Given the description of an element on the screen output the (x, y) to click on. 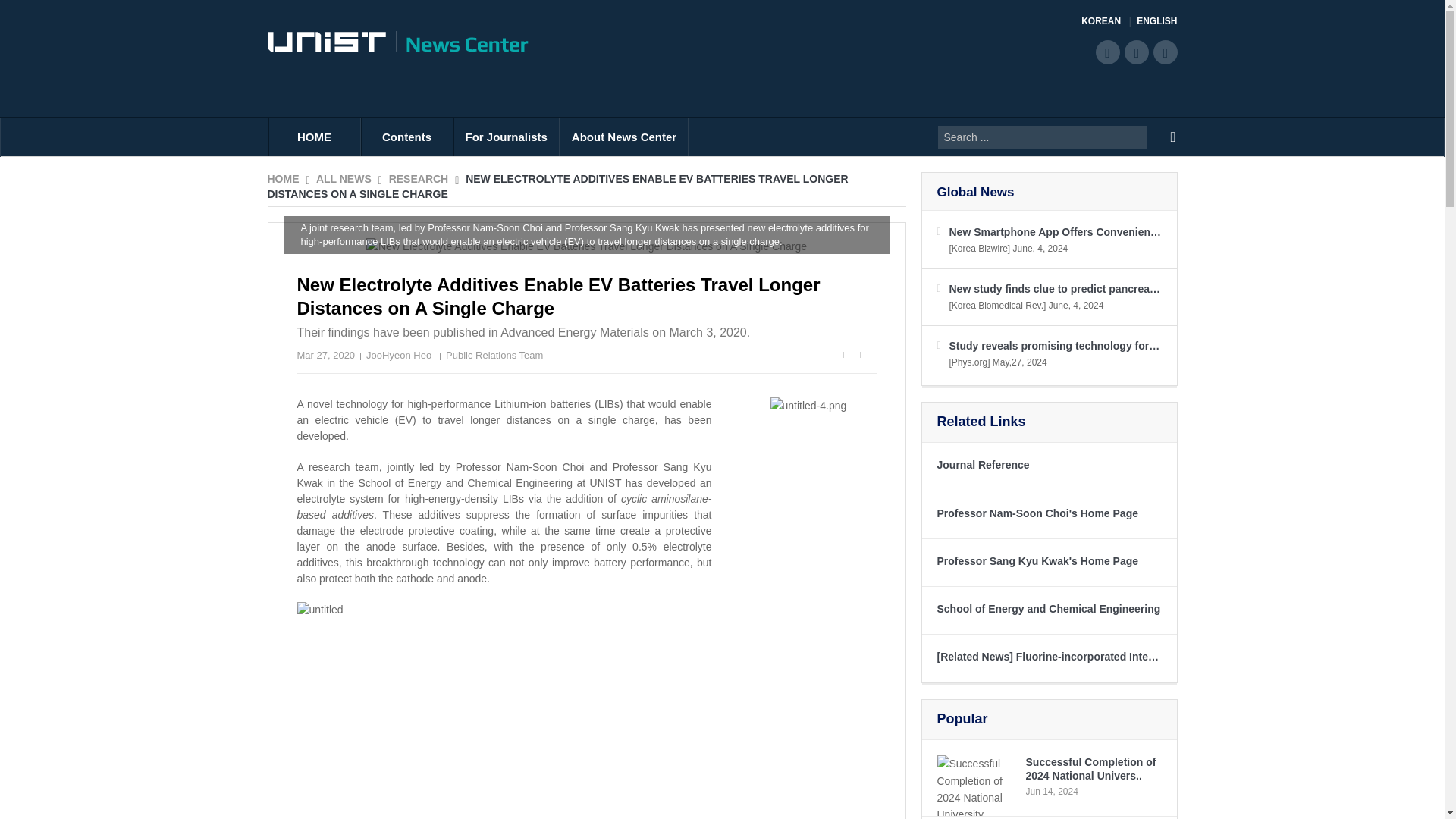
Contents (406, 136)
ENGLISH (1156, 21)
HOME (313, 136)
KOREAN (1105, 21)
